Given the description of an element on the screen output the (x, y) to click on. 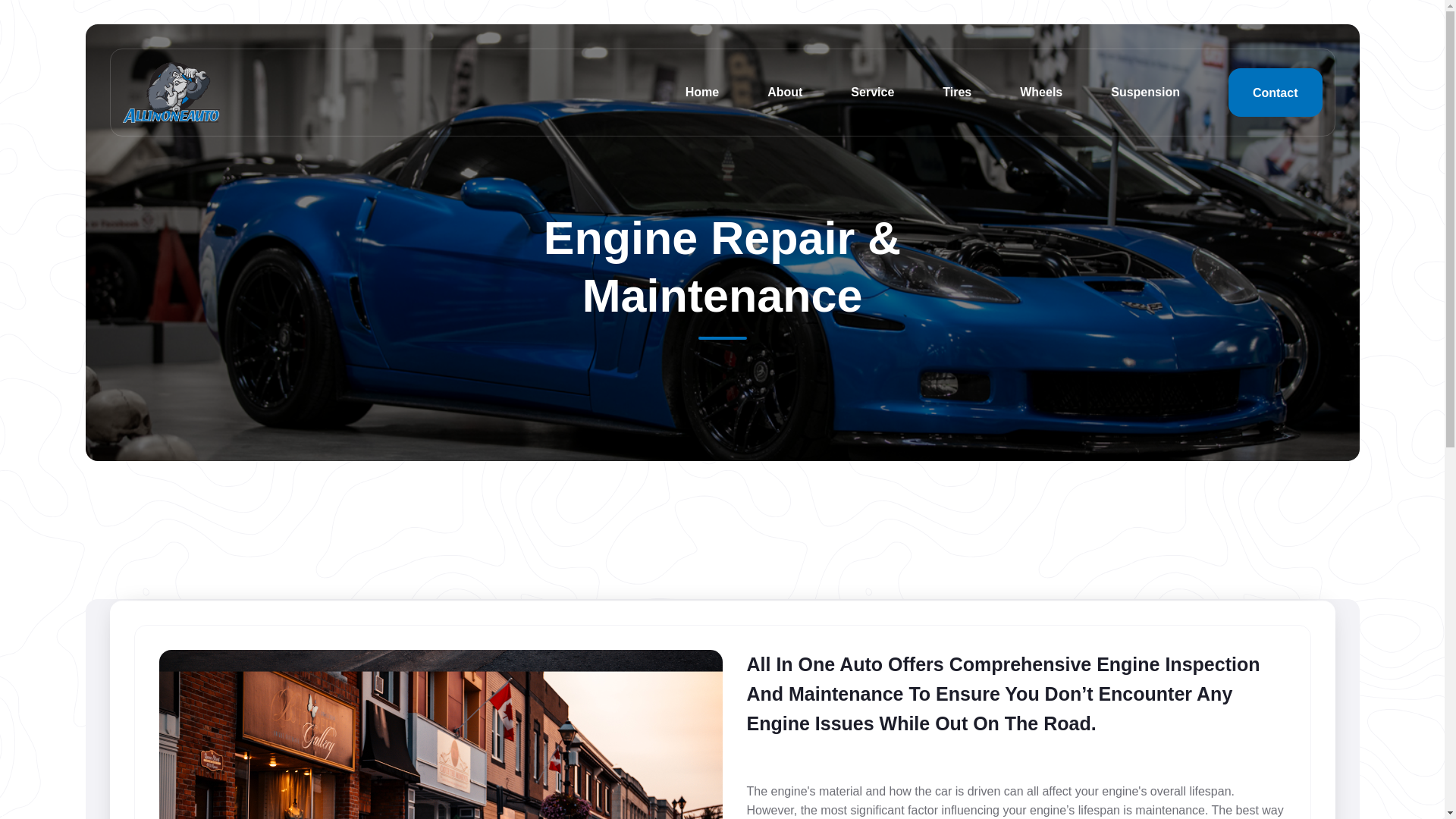
Contact Element type: text (1275, 92)
Suspension Element type: text (1145, 92)
Home Element type: text (702, 92)
About Element type: text (784, 92)
Wheels Element type: text (1040, 92)
Tires Element type: text (956, 92)
